Given the description of an element on the screen output the (x, y) to click on. 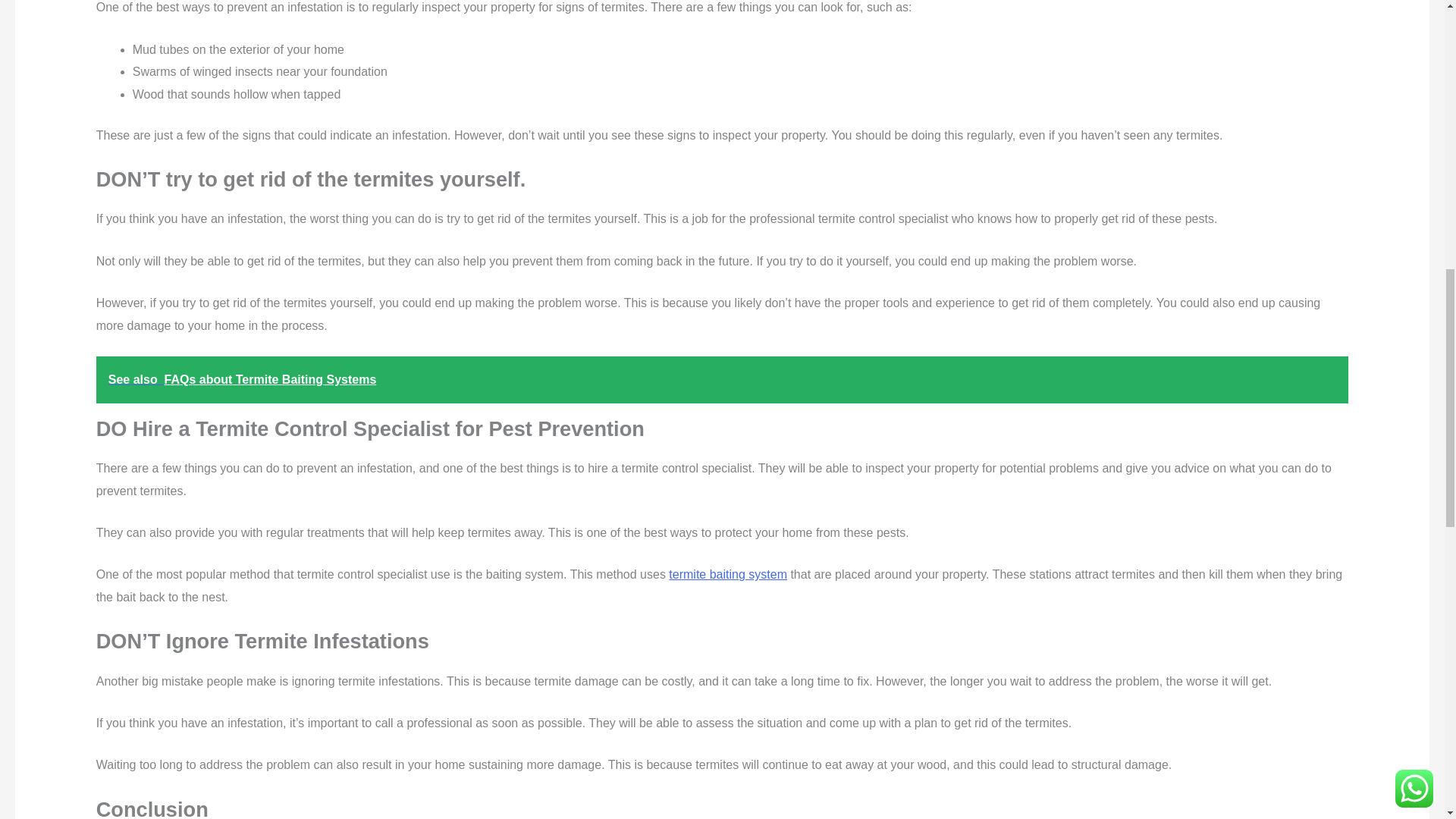
termite baiting system (727, 574)
See also  FAQs about Termite Baiting Systems (722, 379)
